Given the description of an element on the screen output the (x, y) to click on. 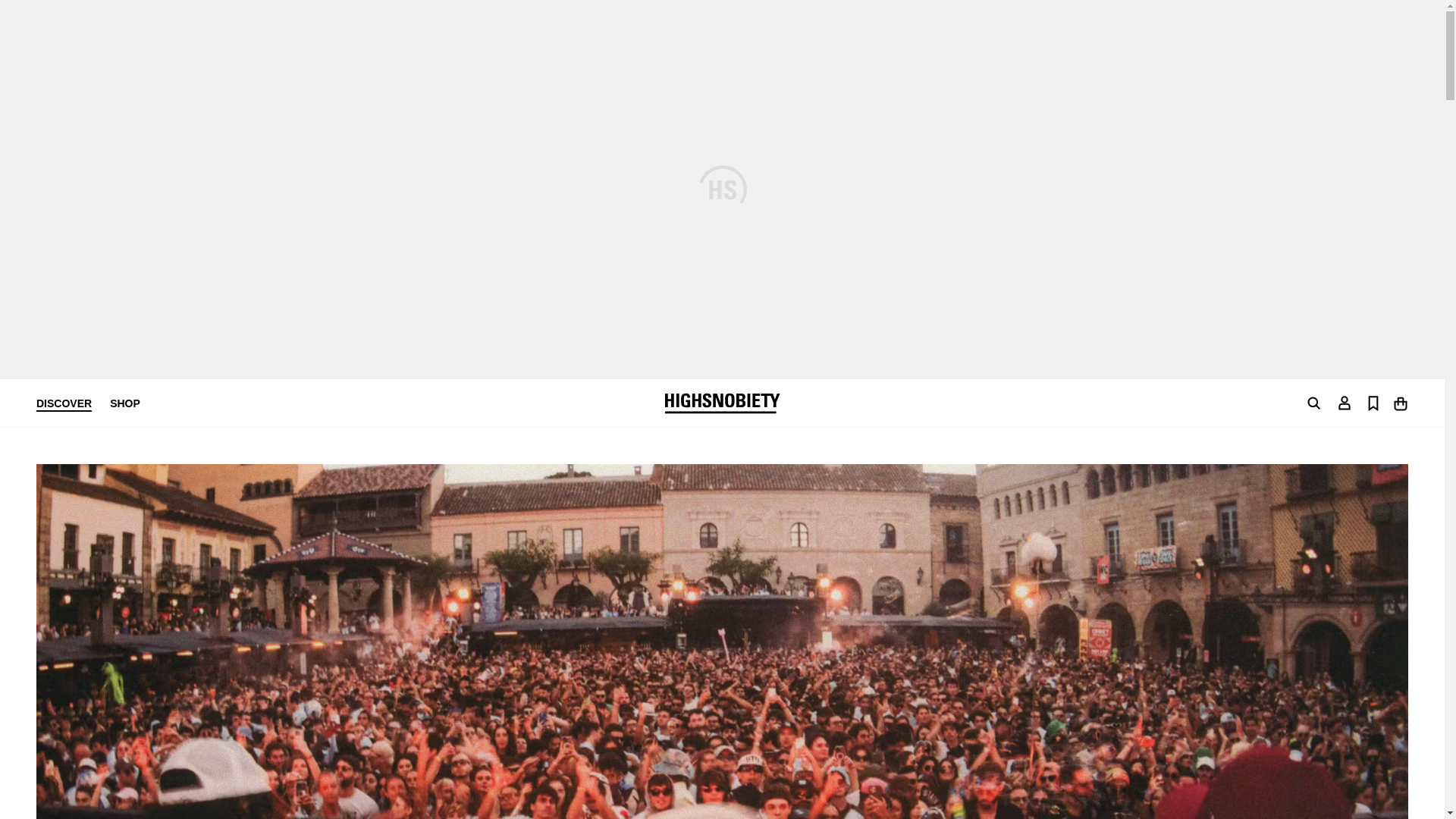
Go To Search (1314, 403)
Go To Shopping Cart (1400, 402)
Highsnobiety (720, 403)
Go To Saved (1372, 402)
Go To Account (1344, 402)
